Given the description of an element on the screen output the (x, y) to click on. 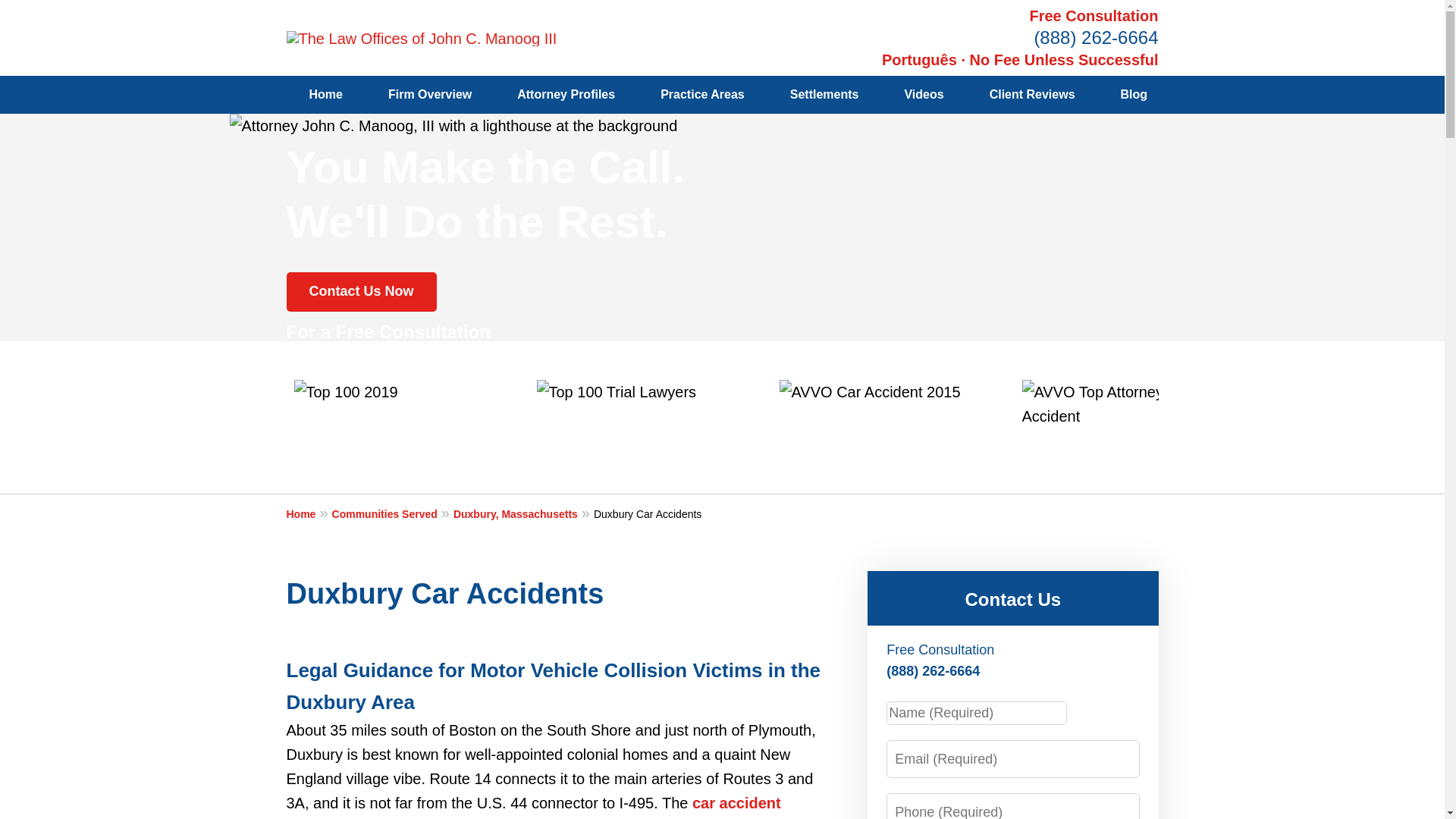
Practice Areas (702, 94)
Home (308, 513)
Contact Us (1224, 94)
Blog (1133, 94)
Contact Us (1012, 598)
Duxbury, Massachusetts (523, 513)
car accident (736, 802)
Home (325, 94)
Communities Served (391, 513)
Settlements (824, 94)
